Given the description of an element on the screen output the (x, y) to click on. 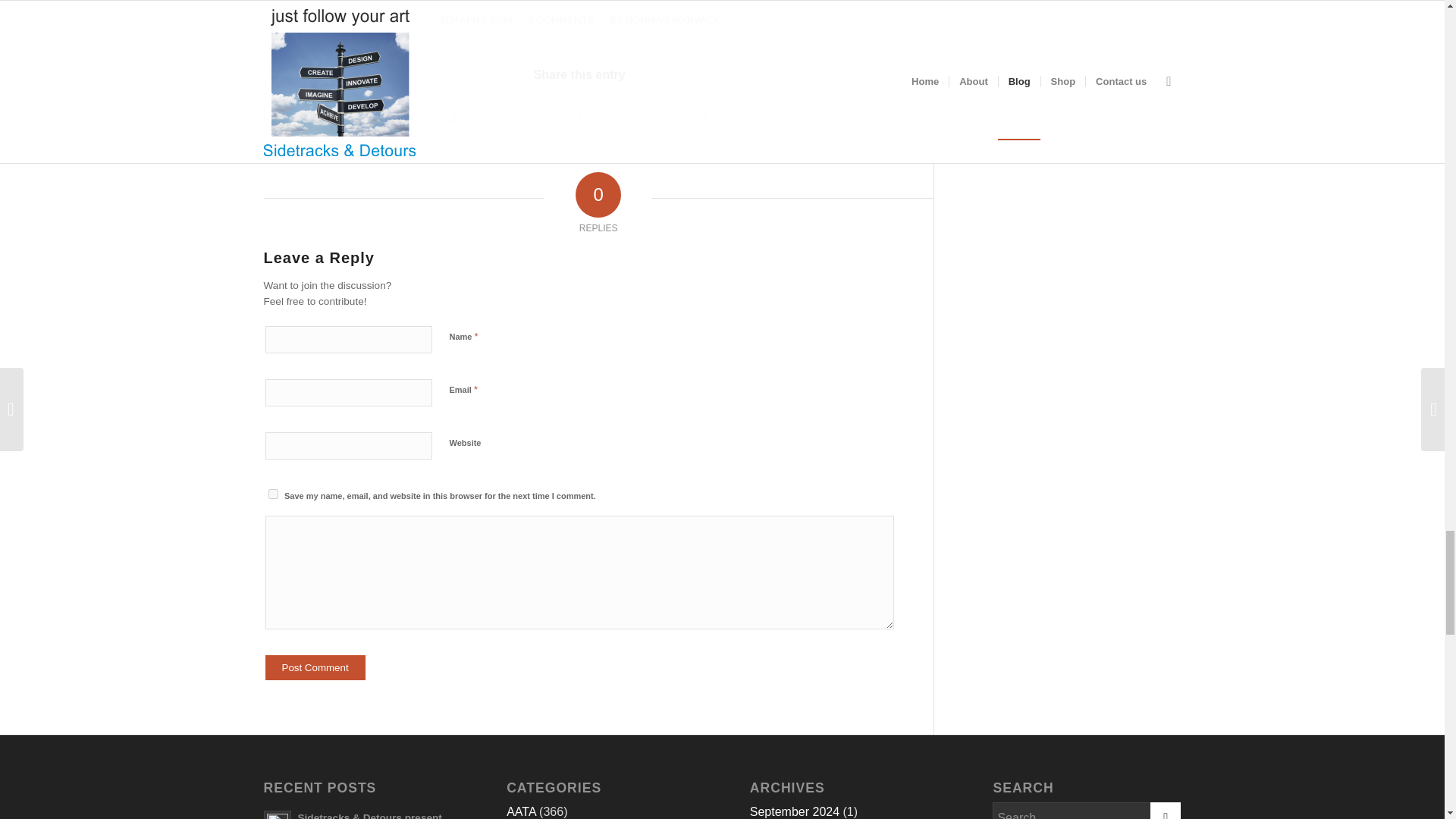
NORMAN WARWICK (673, 19)
Post Comment (314, 667)
Posts by Norman Warwick (673, 19)
yes (272, 493)
Post Comment (314, 667)
0 COMMENTS (561, 19)
